Given the description of an element on the screen output the (x, y) to click on. 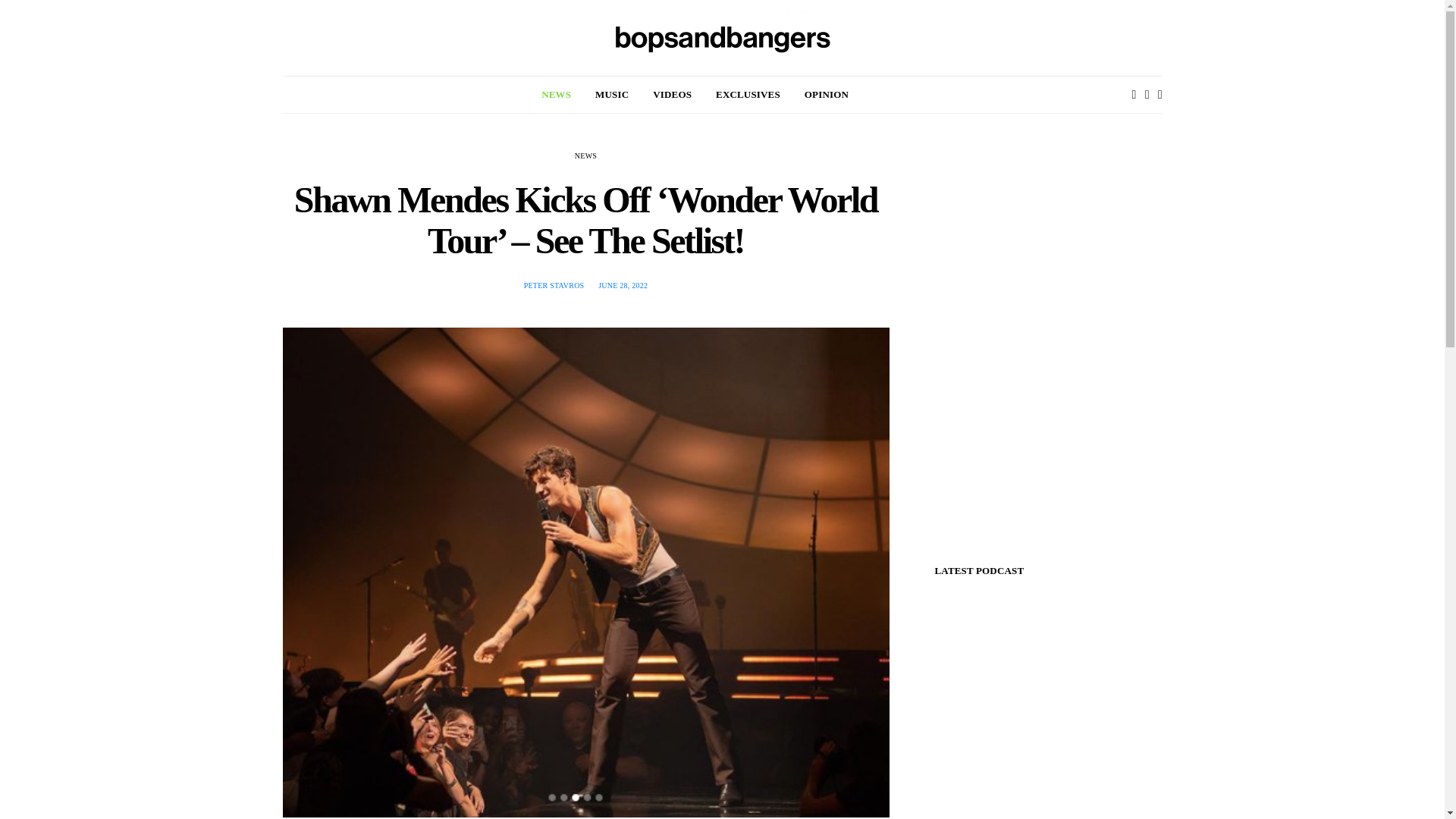
NEWS (585, 155)
VIDEOS (671, 94)
EXCLUSIVES (748, 94)
MUSIC (611, 94)
PETER STAVROS (554, 285)
JUNE 28, 2022 (622, 285)
OPINION (826, 94)
View all posts by Peter Stavros (554, 285)
